Given the description of an element on the screen output the (x, y) to click on. 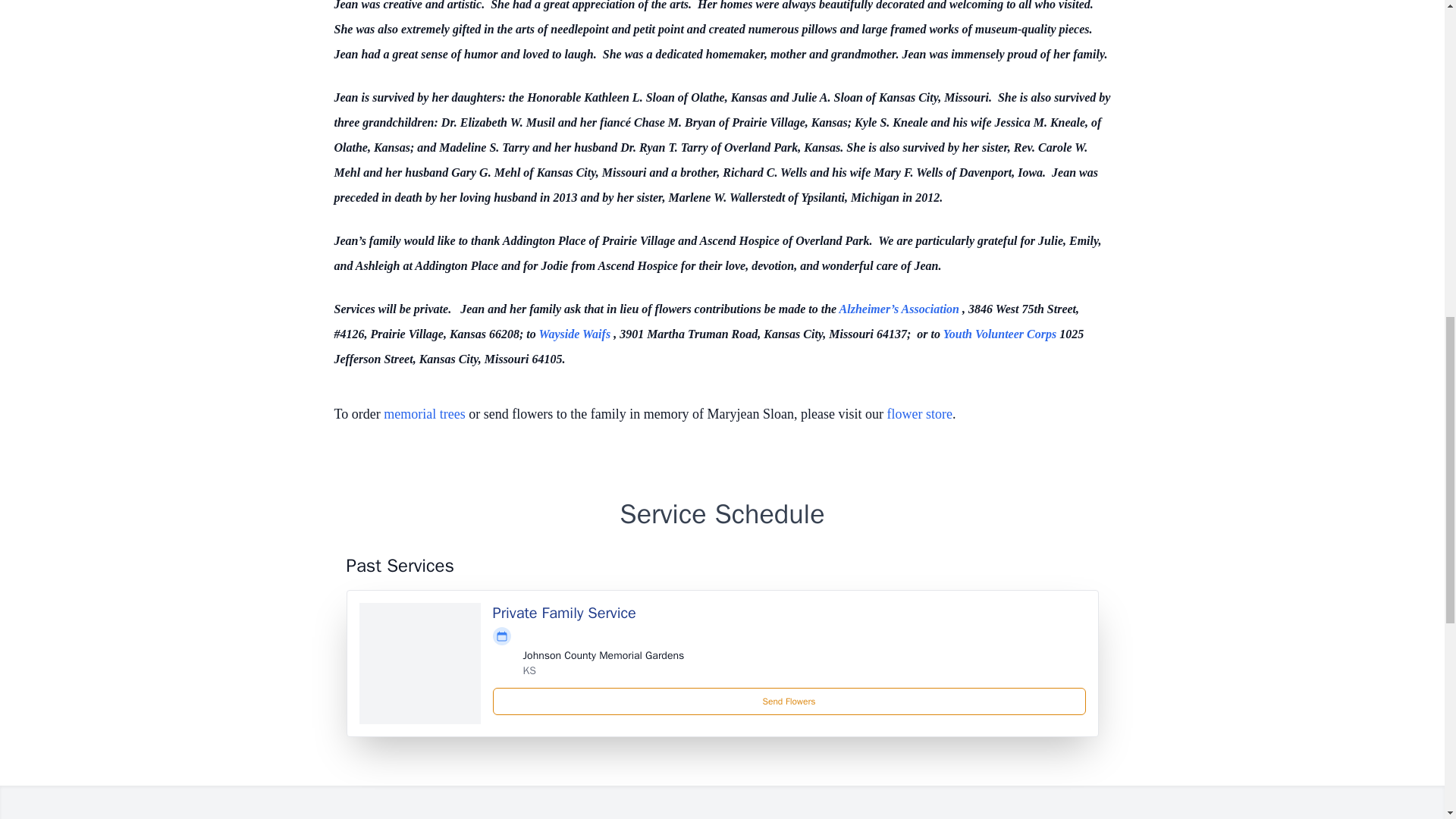
Wayside Waifs (575, 333)
Send Flowers (789, 700)
Youth Volunteer Corps (1001, 333)
flower store (919, 413)
memorial trees (424, 413)
KS (528, 670)
